Given the description of an element on the screen output the (x, y) to click on. 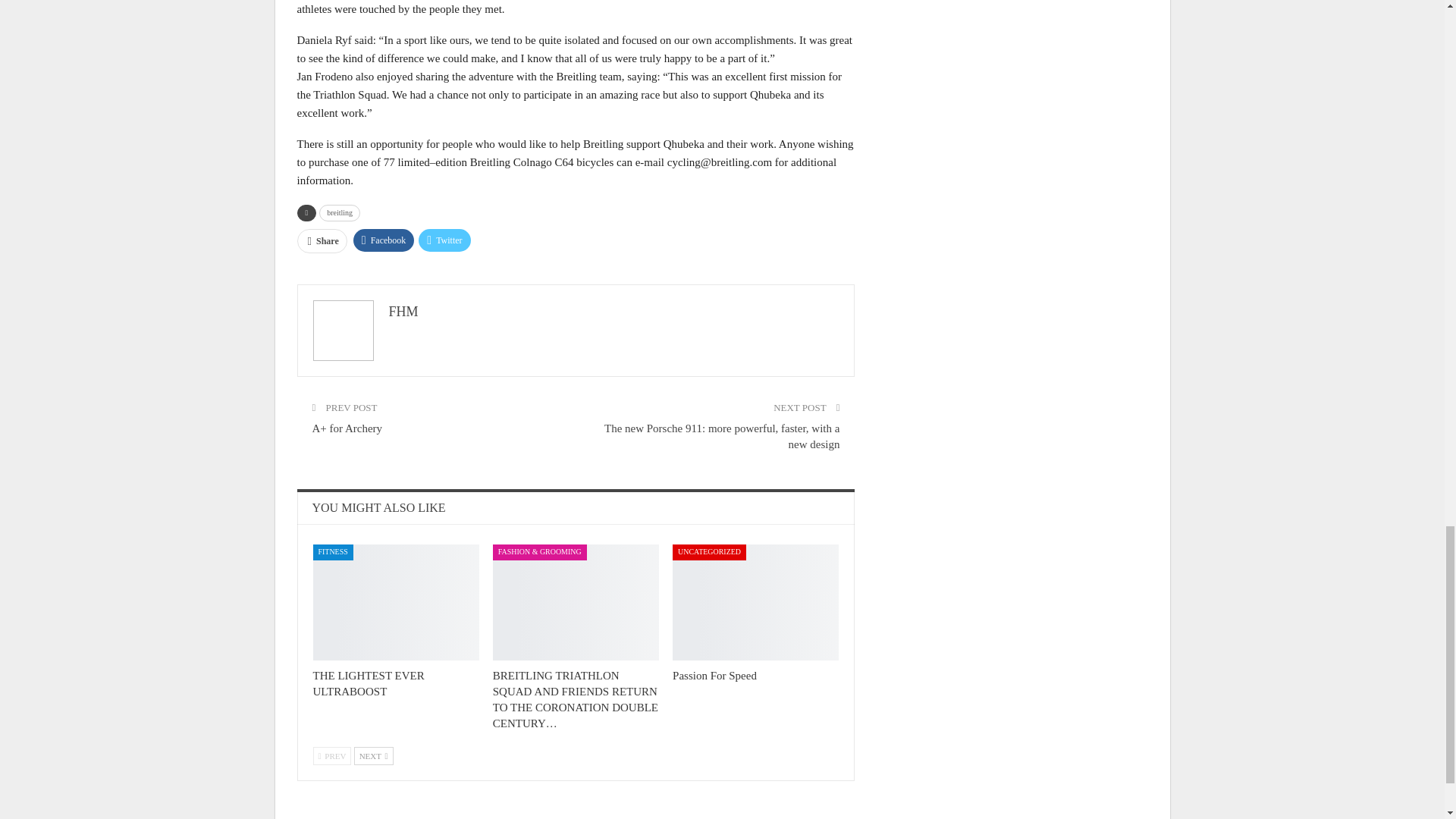
THE LIGHTEST EVER ULTRABOOST (396, 602)
THE LIGHTEST EVER ULTRABOOST (368, 683)
